Given the description of an element on the screen output the (x, y) to click on. 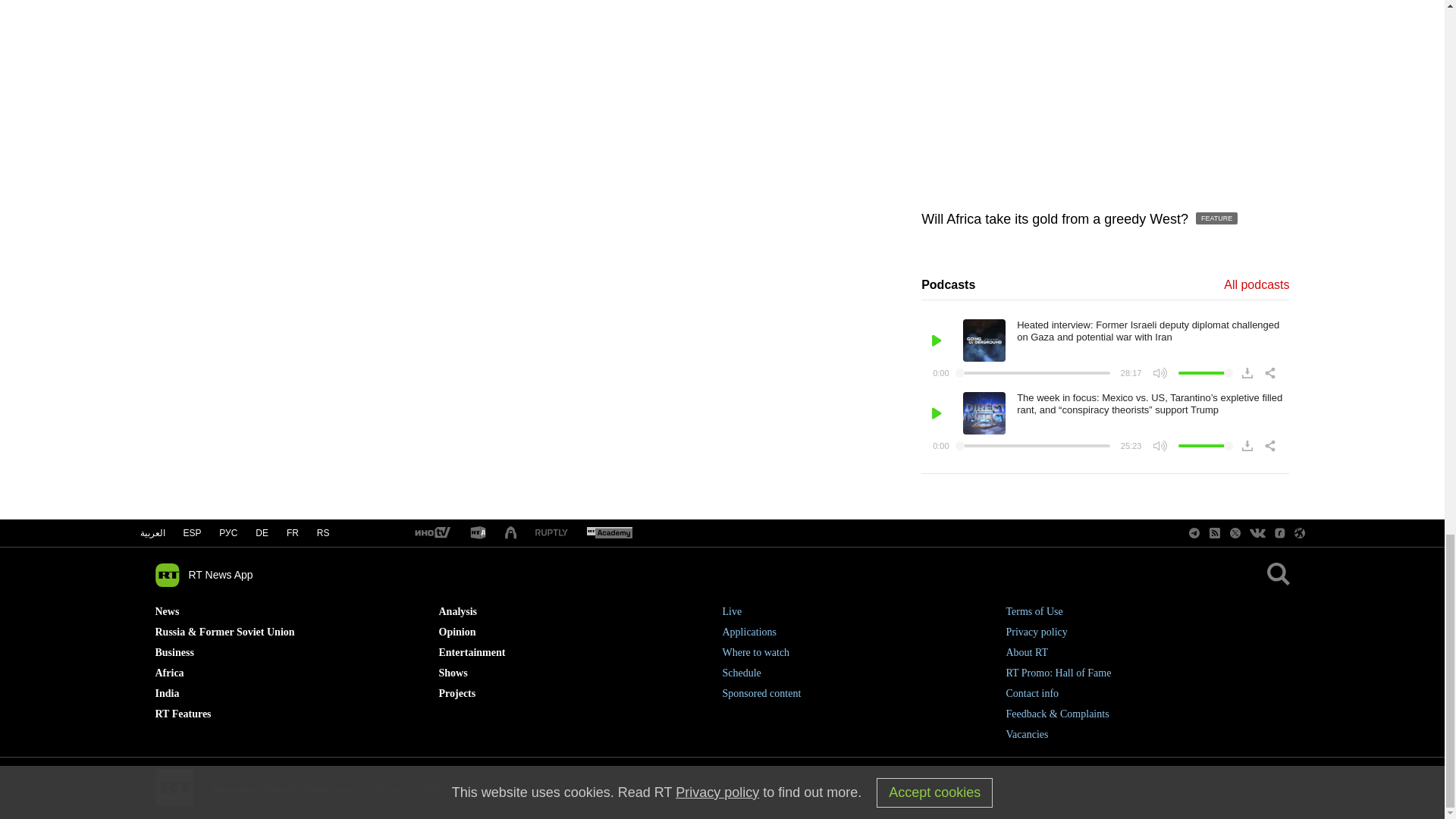
RT  (478, 533)
RT  (551, 533)
RT  (608, 533)
RT  (431, 533)
